Given the description of an element on the screen output the (x, y) to click on. 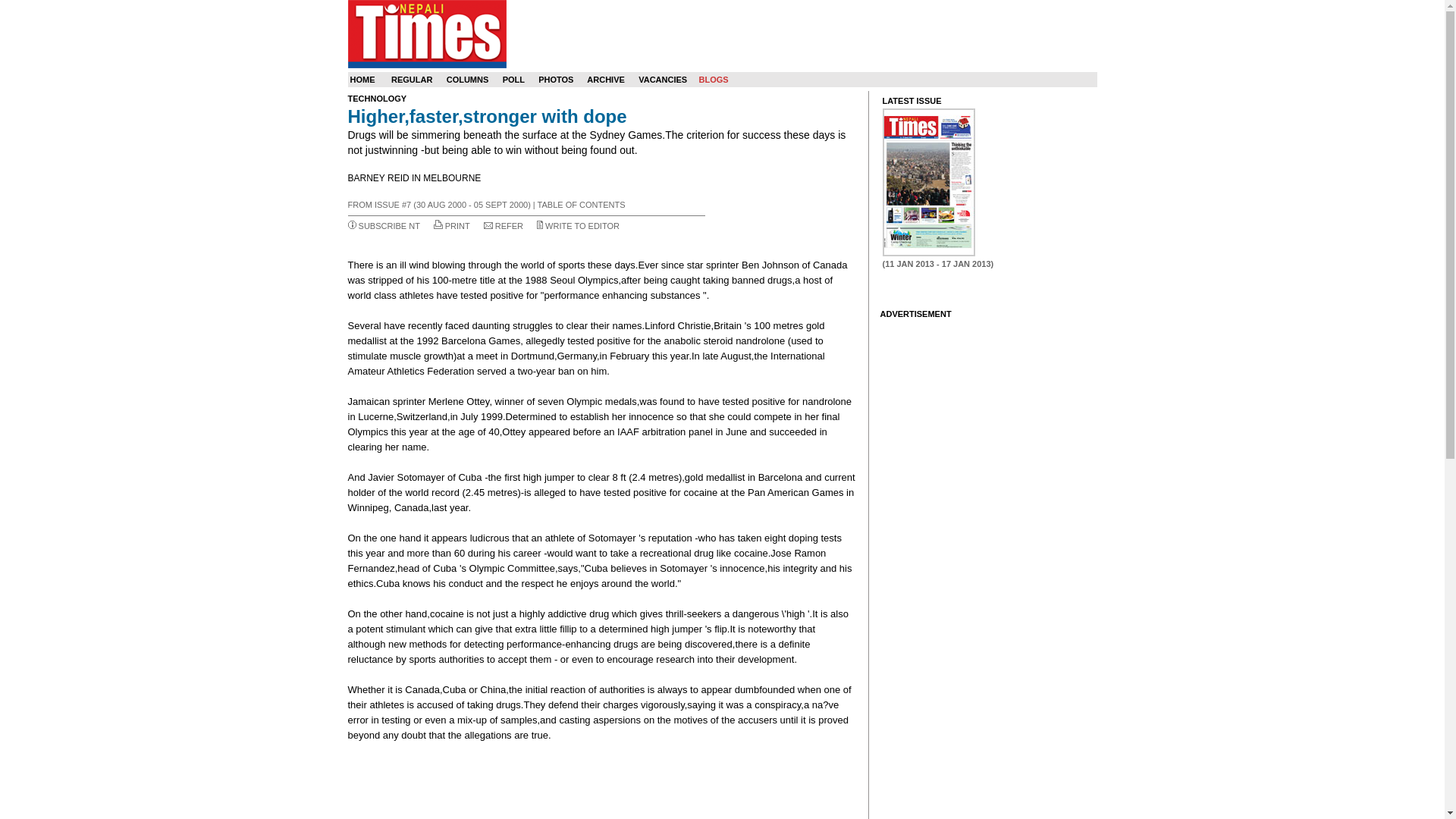
POLL (513, 79)
BLOGS (713, 79)
VACANCIES (663, 79)
COLUMNS (467, 79)
SUBSCRIBE NT (389, 225)
REGULAR (411, 79)
PRINT (458, 225)
HOME (362, 79)
TABLE OF CONTENTS (581, 204)
Nepali Times (426, 33)
PHOTOS (555, 79)
Advertisement (601, 780)
REFER (508, 225)
WRITE TO EDITOR (582, 225)
ARCHIVE (605, 79)
